Given the description of an element on the screen output the (x, y) to click on. 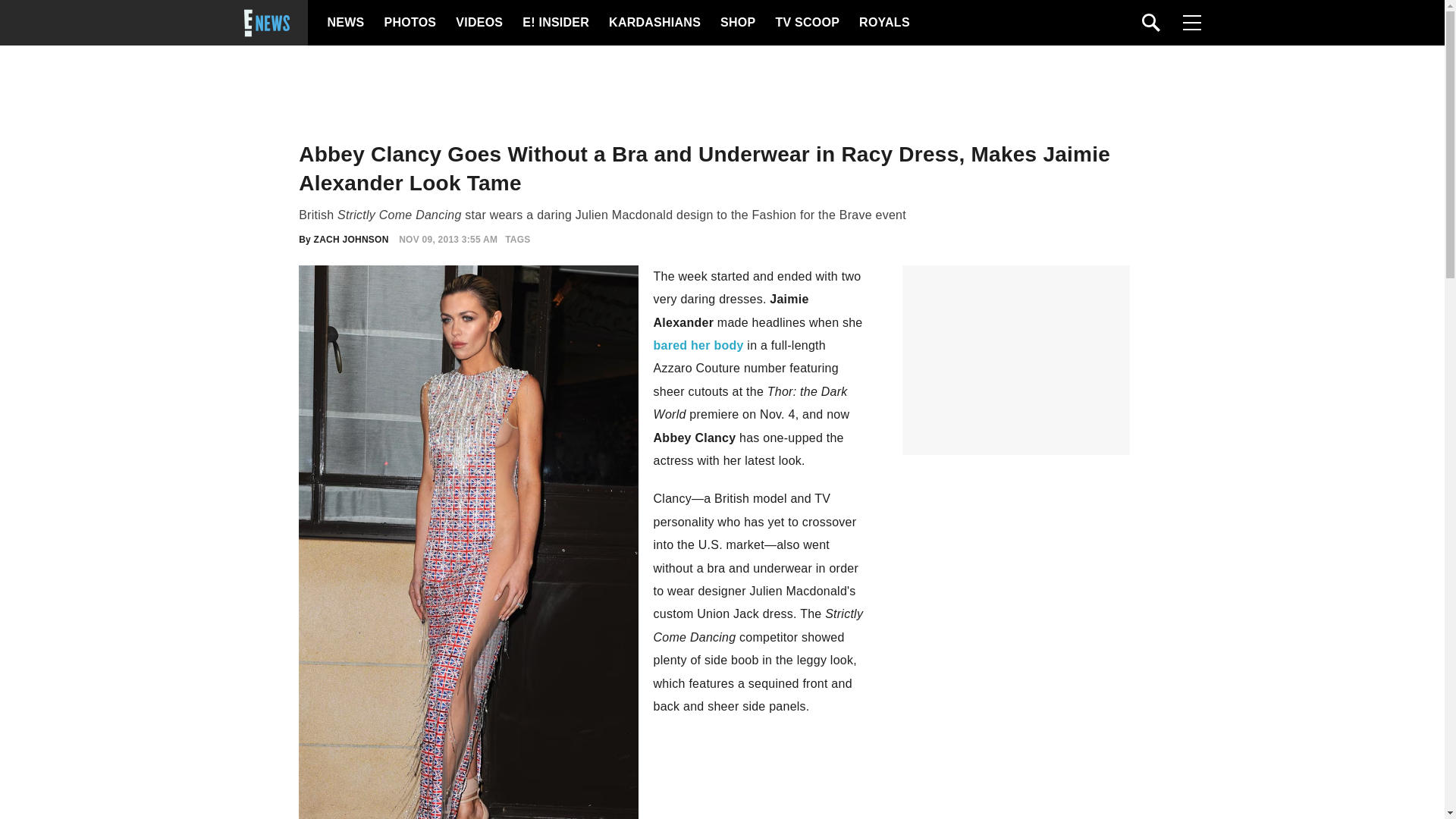
TV SCOOP (806, 22)
KARDASHIANS (653, 22)
PHOTOS (408, 22)
ZACH JOHNSON (351, 239)
NEWS (345, 22)
bared her body (698, 345)
SHOP (737, 22)
VIDEOS (478, 22)
ROYALS (883, 22)
E! INSIDER (555, 22)
